Given the description of an element on the screen output the (x, y) to click on. 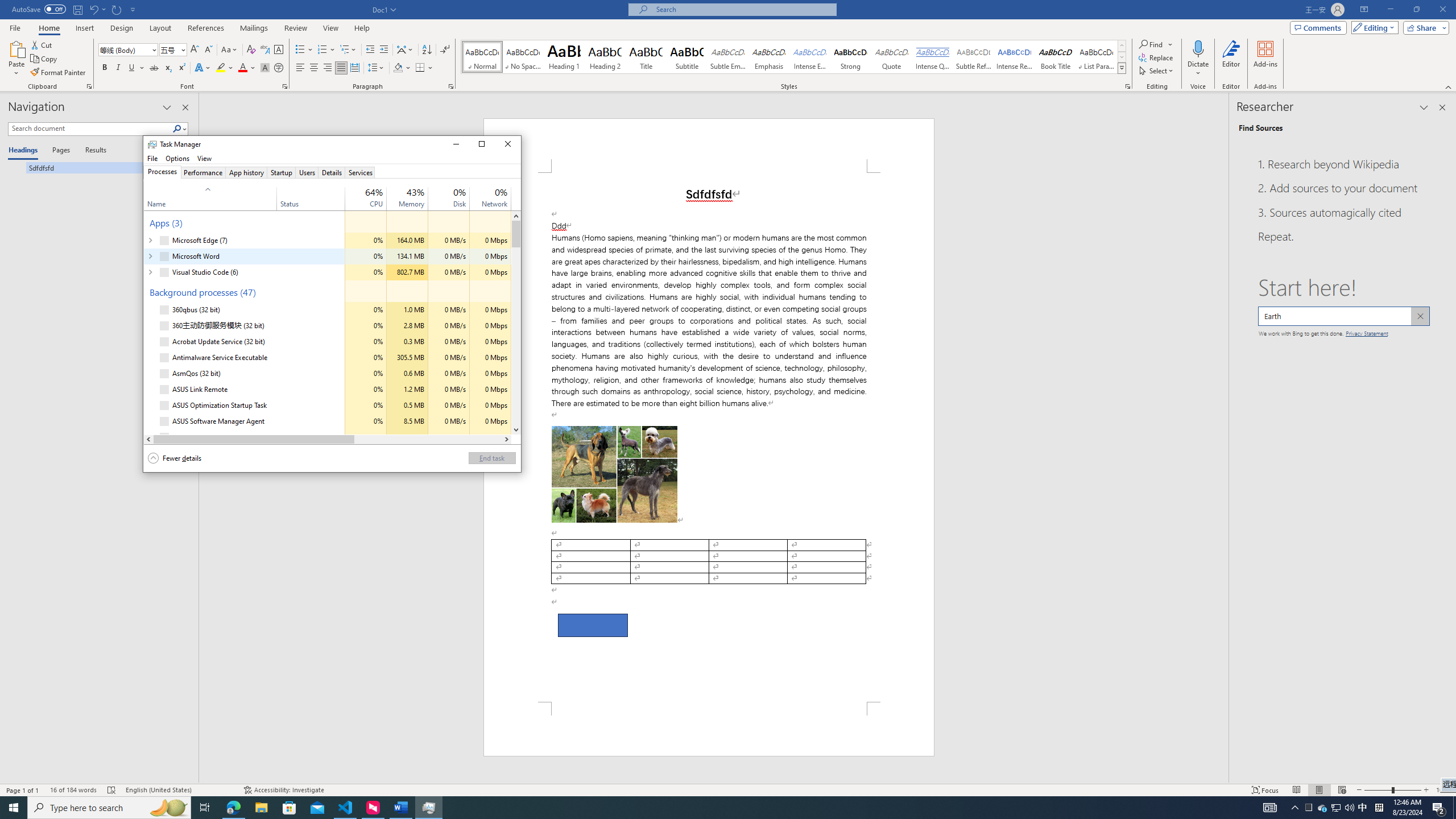
Research people, events, concepts, and places (1343, 315)
Undo  (96, 9)
Fewer details (175, 458)
Type here to search (108, 807)
